Given the description of an element on the screen output the (x, y) to click on. 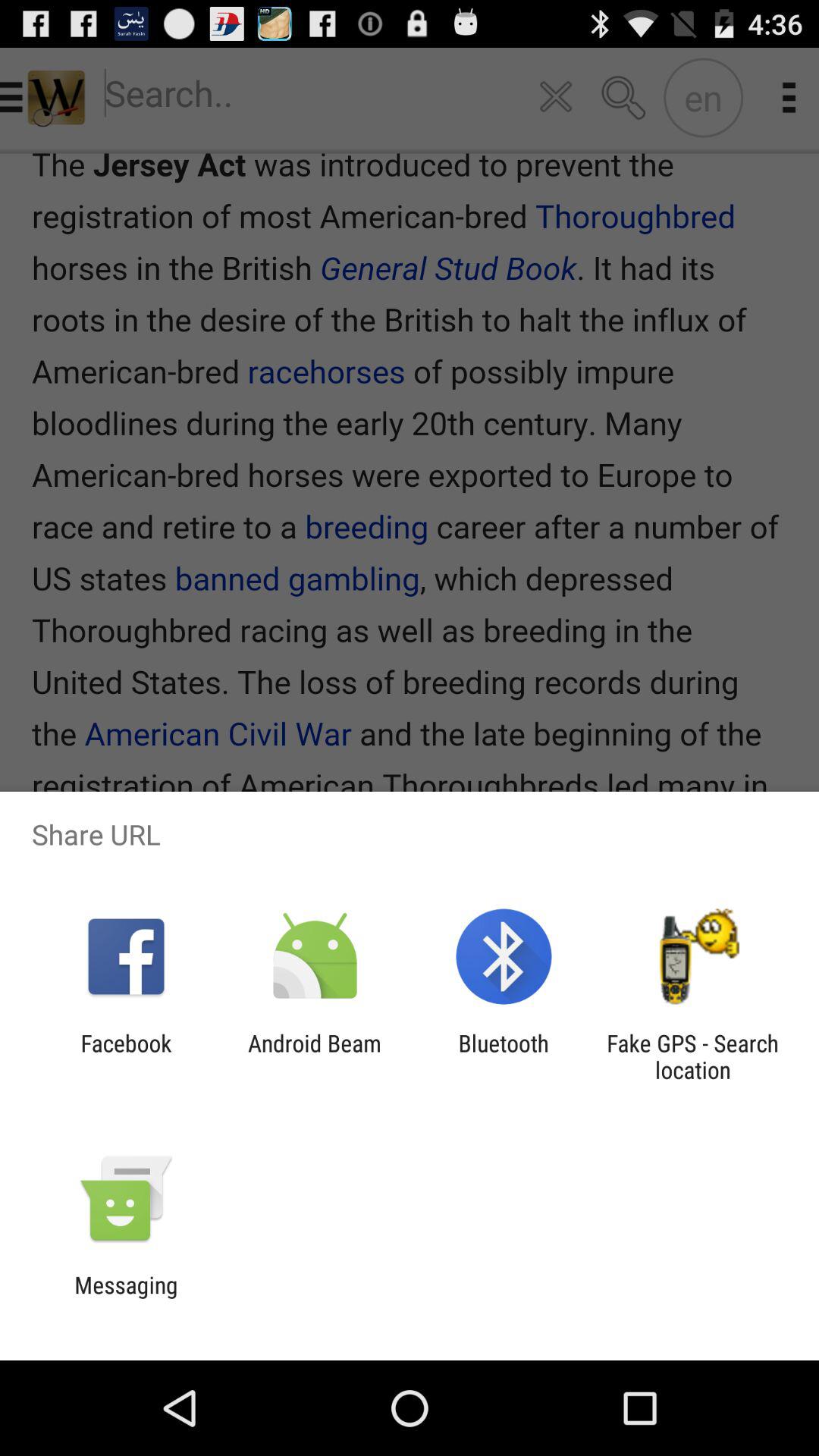
turn off the app to the right of the bluetooth (692, 1056)
